Given the description of an element on the screen output the (x, y) to click on. 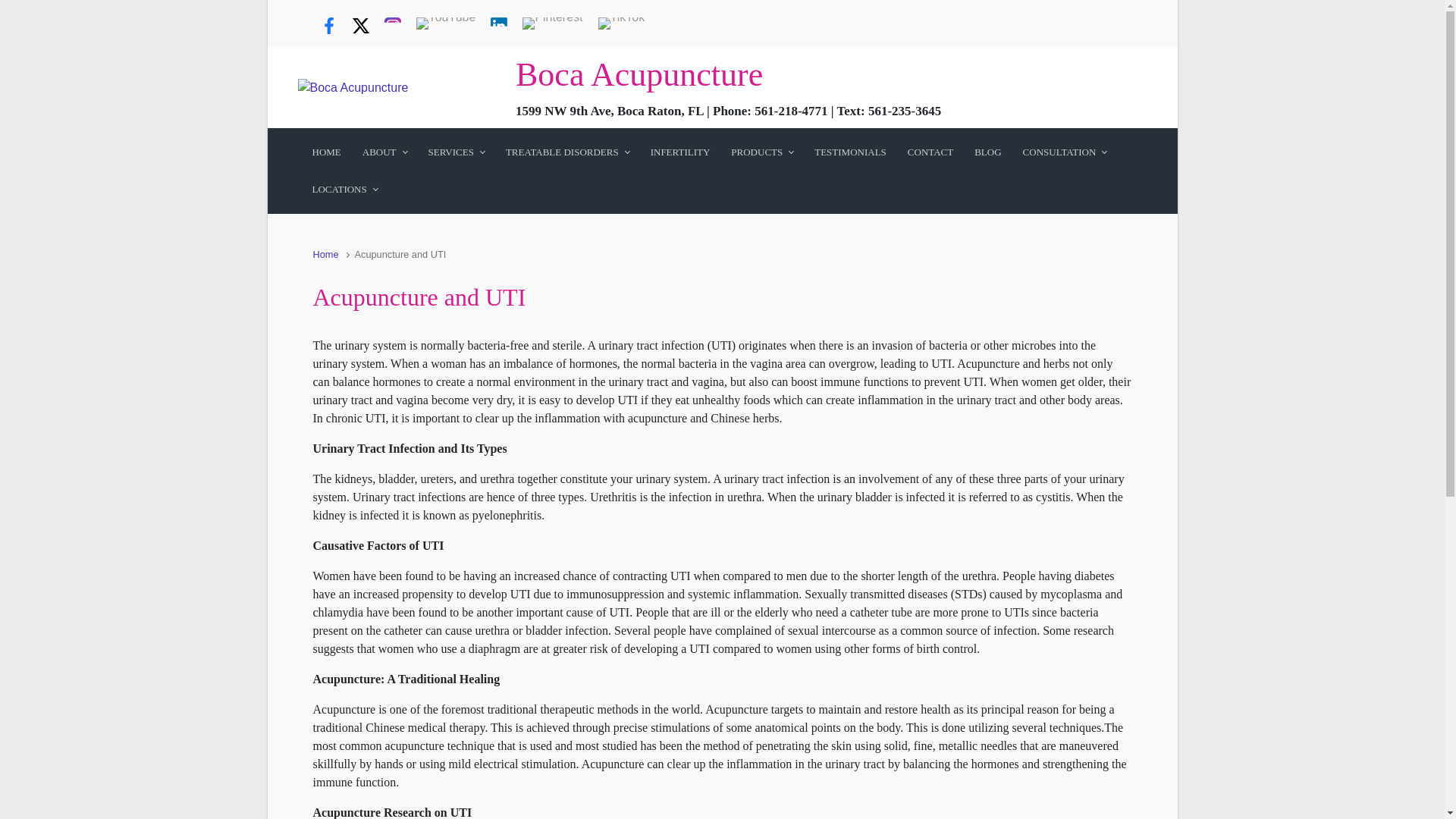
ABOUT (384, 152)
TREATABLE DISORDERS (566, 152)
HOME (326, 152)
SERVICES (456, 152)
Skip to main content (17, 8)
Boca Acupuncture (638, 74)
